Given the description of an element on the screen output the (x, y) to click on. 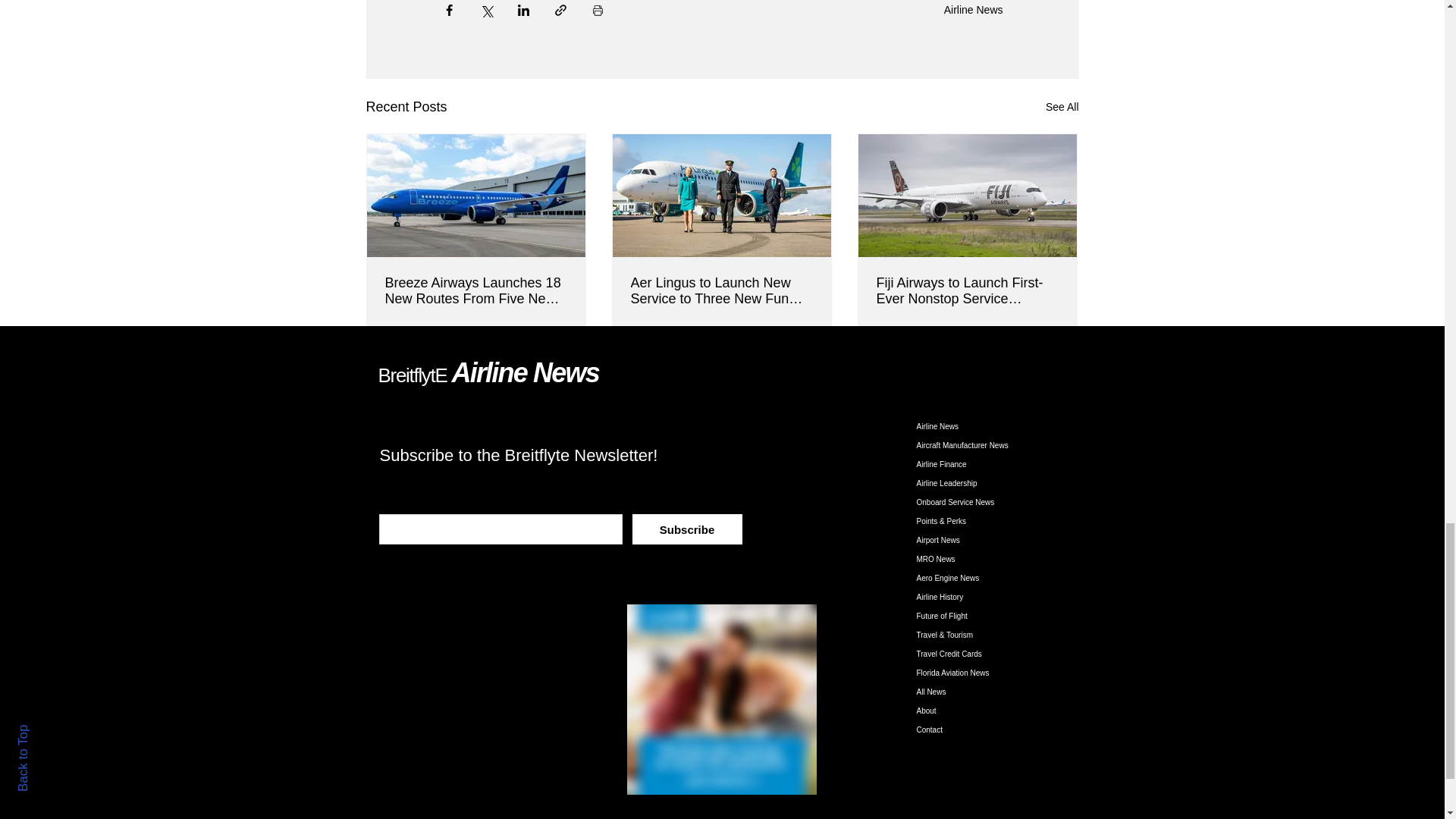
Breeze Airways Launches 18 New Routes From Five New Cities (476, 291)
Subscribe (686, 529)
Airline News (973, 9)
See All (1061, 106)
Breit (395, 374)
